Given the description of an element on the screen output the (x, y) to click on. 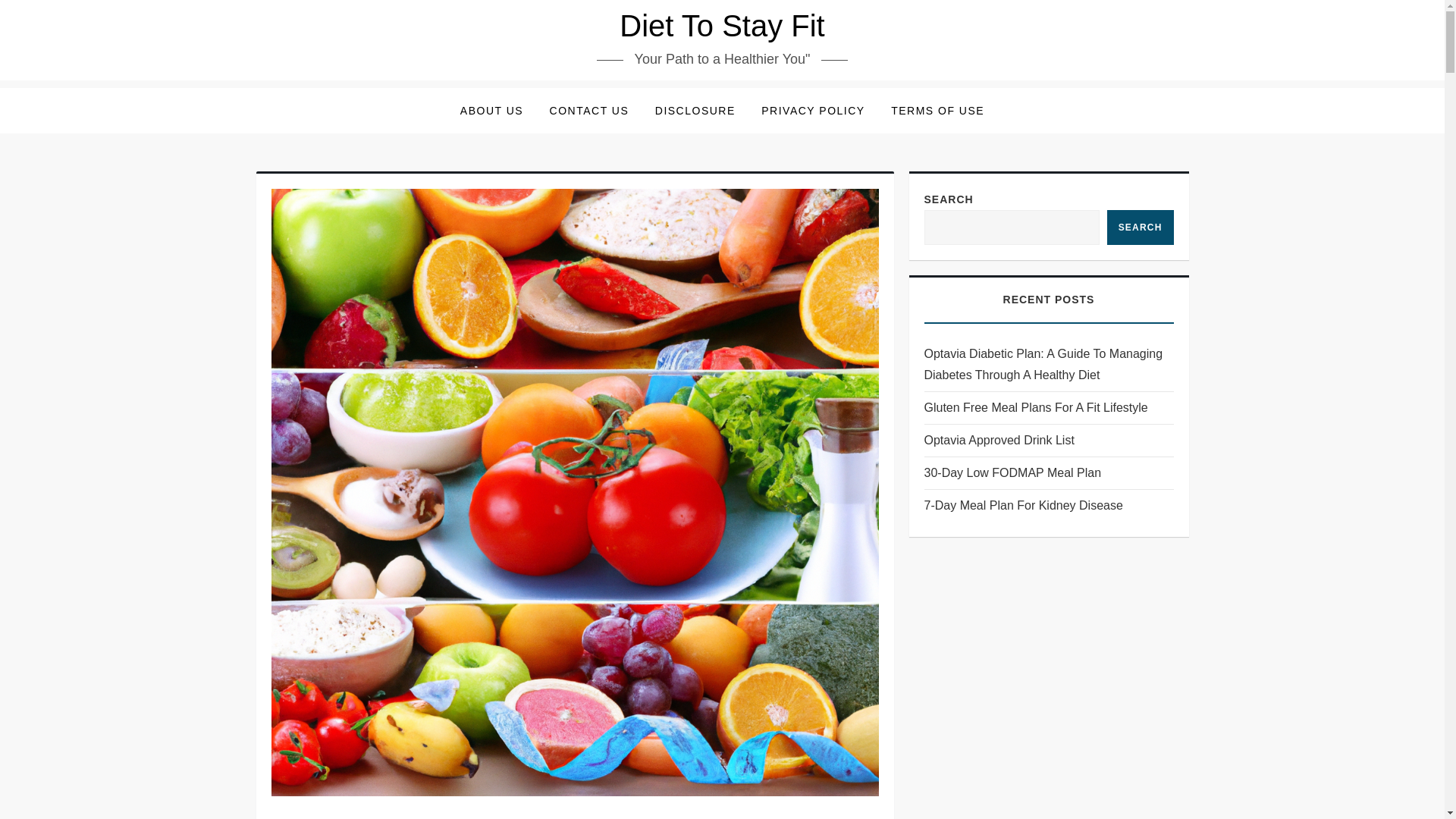
ABOUT US (491, 110)
TERMS OF USE (937, 110)
DISCLOSURE (694, 110)
PRIVACY POLICY (812, 110)
Diet To Stay Fit (722, 25)
CONTACT US (589, 110)
